Given the description of an element on the screen output the (x, y) to click on. 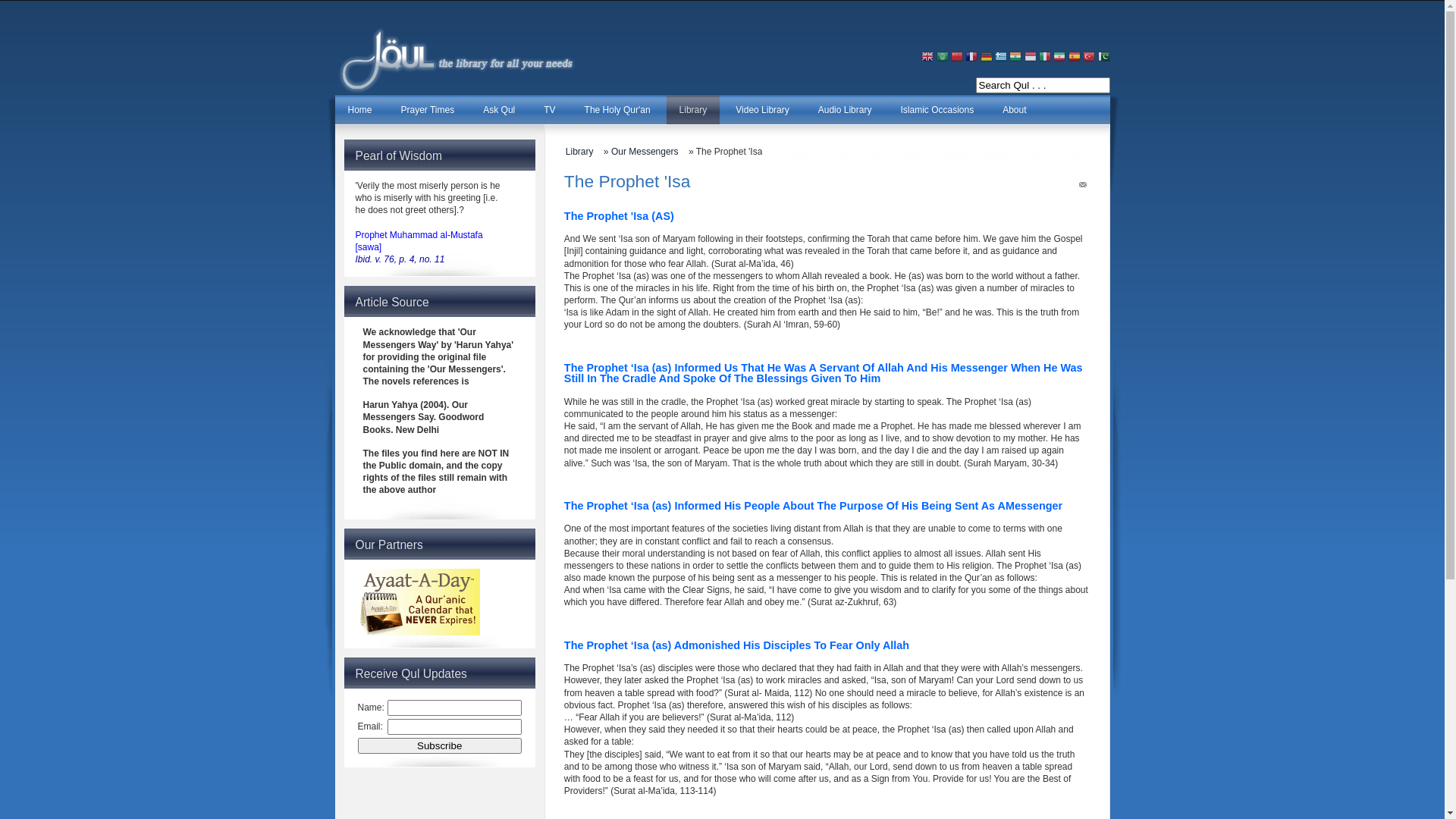
Ask Qul Element type: text (498, 109)
French Element type: hover (971, 57)
Turkish Element type: hover (1088, 57)
Prayer Times Element type: text (427, 109)
Persian Element type: hover (1059, 57)
English Element type: hover (927, 57)
Arabic Element type: hover (942, 57)
Library Element type: text (693, 109)
Greek Element type: hover (1000, 57)
Italian Element type: hover (1044, 57)
Subscribe Element type: text (439, 745)
Chinese (Simplified) Element type: hover (956, 57)
Audio Library Element type: text (844, 109)
Islamic Occasions Element type: text (936, 109)
Home Element type: text (360, 109)
Hindi Element type: hover (1015, 57)
Library Element type: text (583, 151)
Video Library Element type: text (762, 109)
The Holy Qur'an Element type: text (617, 109)
Spanish Element type: hover (1074, 57)
Indonesian Element type: hover (1030, 57)
Urdu Element type: hover (1104, 57)
TV Element type: text (548, 109)
E-mail Element type: hover (1082, 187)
About Element type: text (1013, 109)
Our Messengers Element type: text (648, 151)
German Element type: hover (986, 57)
